Given the description of an element on the screen output the (x, y) to click on. 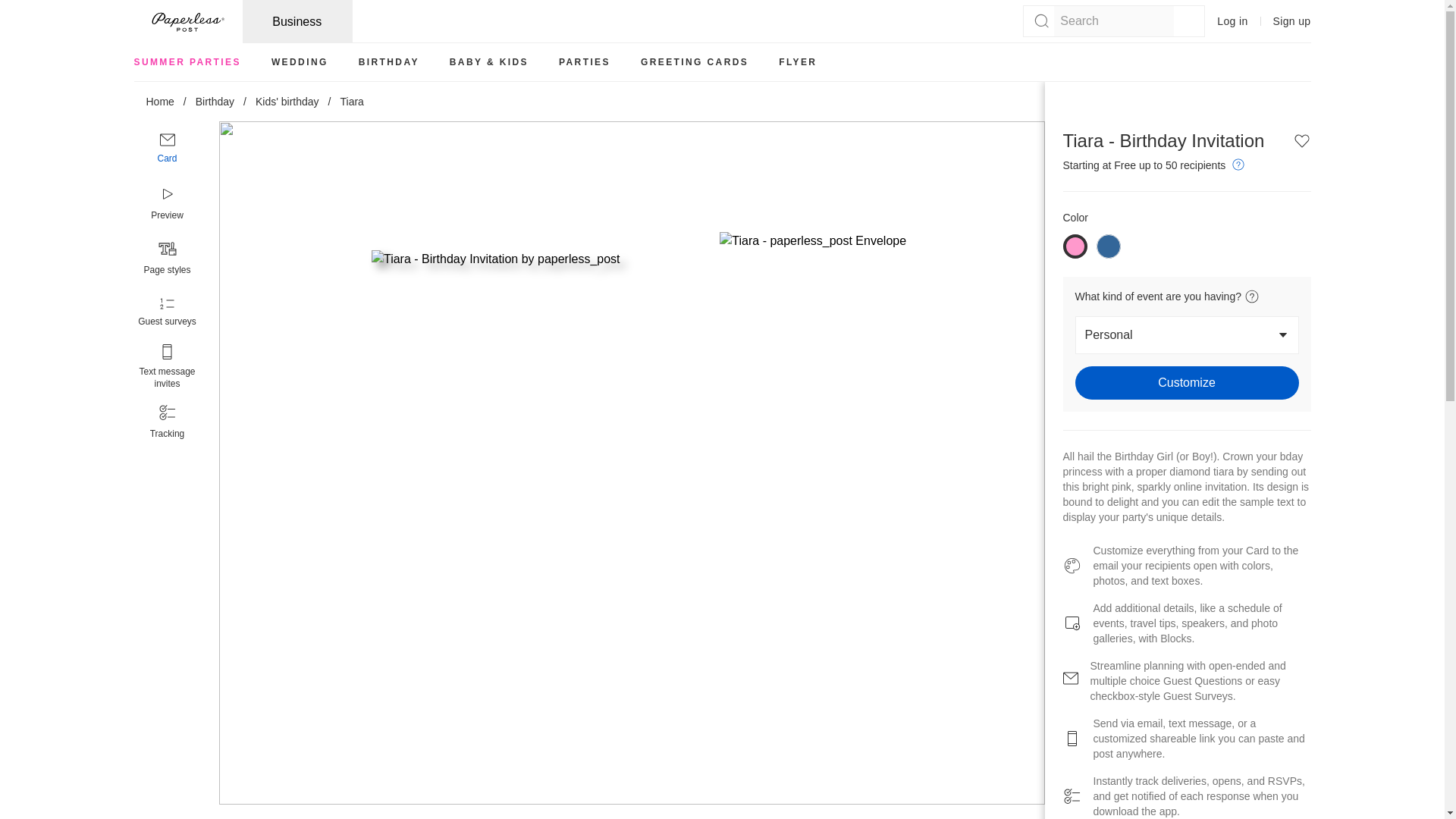
on (1108, 246)
Log in (1232, 20)
SUMMER PARTIES (186, 63)
WEDDING (299, 63)
Skip to content (17, 5)
question icon (1237, 164)
Sign up (1291, 20)
Business (297, 21)
on (1074, 246)
